Given the description of an element on the screen output the (x, y) to click on. 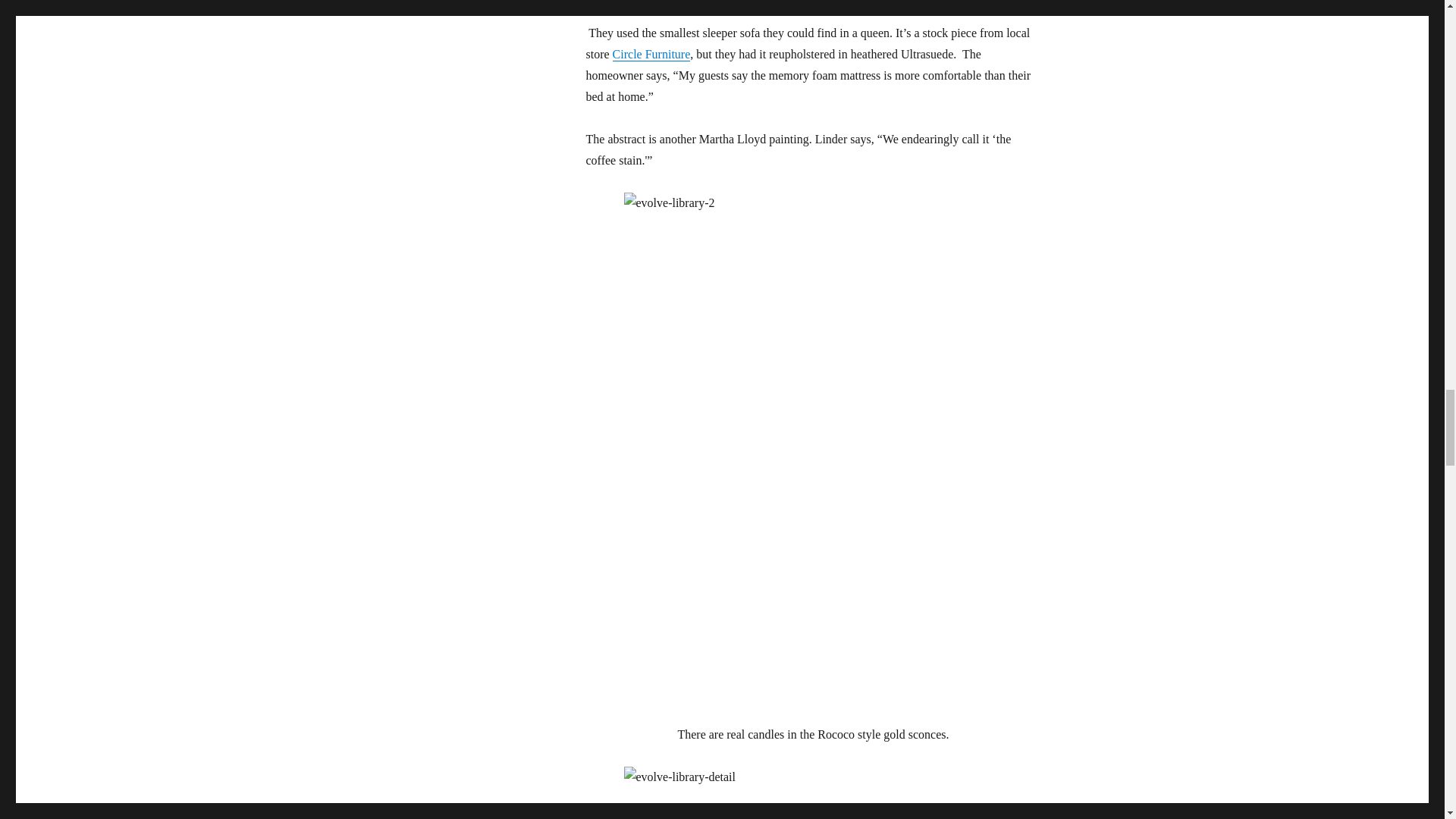
Circle Furniture (651, 53)
